Given the description of an element on the screen output the (x, y) to click on. 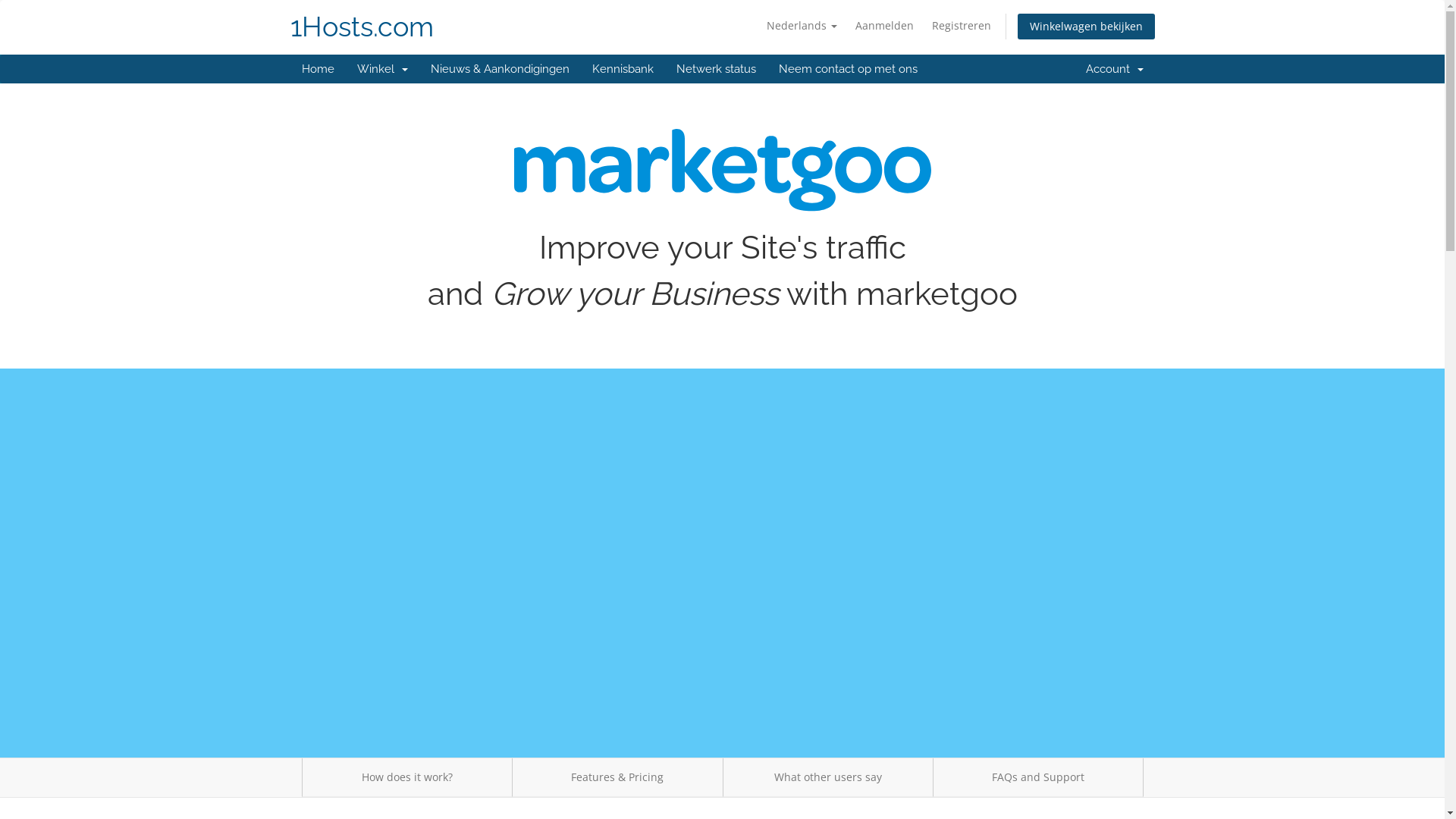
1Hosts.com Element type: text (361, 26)
Neem contact op met ons Element type: text (847, 68)
Account   Element type: text (1113, 68)
Registreren Element type: text (960, 25)
Nieuws & Aankondigingen Element type: text (499, 68)
How does it work? Element type: text (406, 777)
Home Element type: text (317, 68)
What other users say Element type: text (826, 777)
Features & Pricing Element type: text (616, 777)
Kennisbank Element type: text (622, 68)
Winkelwagen bekijken Element type: text (1085, 26)
Aanmelden Element type: text (884, 25)
Winkel   Element type: text (382, 68)
Netwerk status Element type: text (715, 68)
Nederlands Element type: text (801, 25)
FAQs and Support Element type: text (1037, 777)
